Given the description of an element on the screen output the (x, y) to click on. 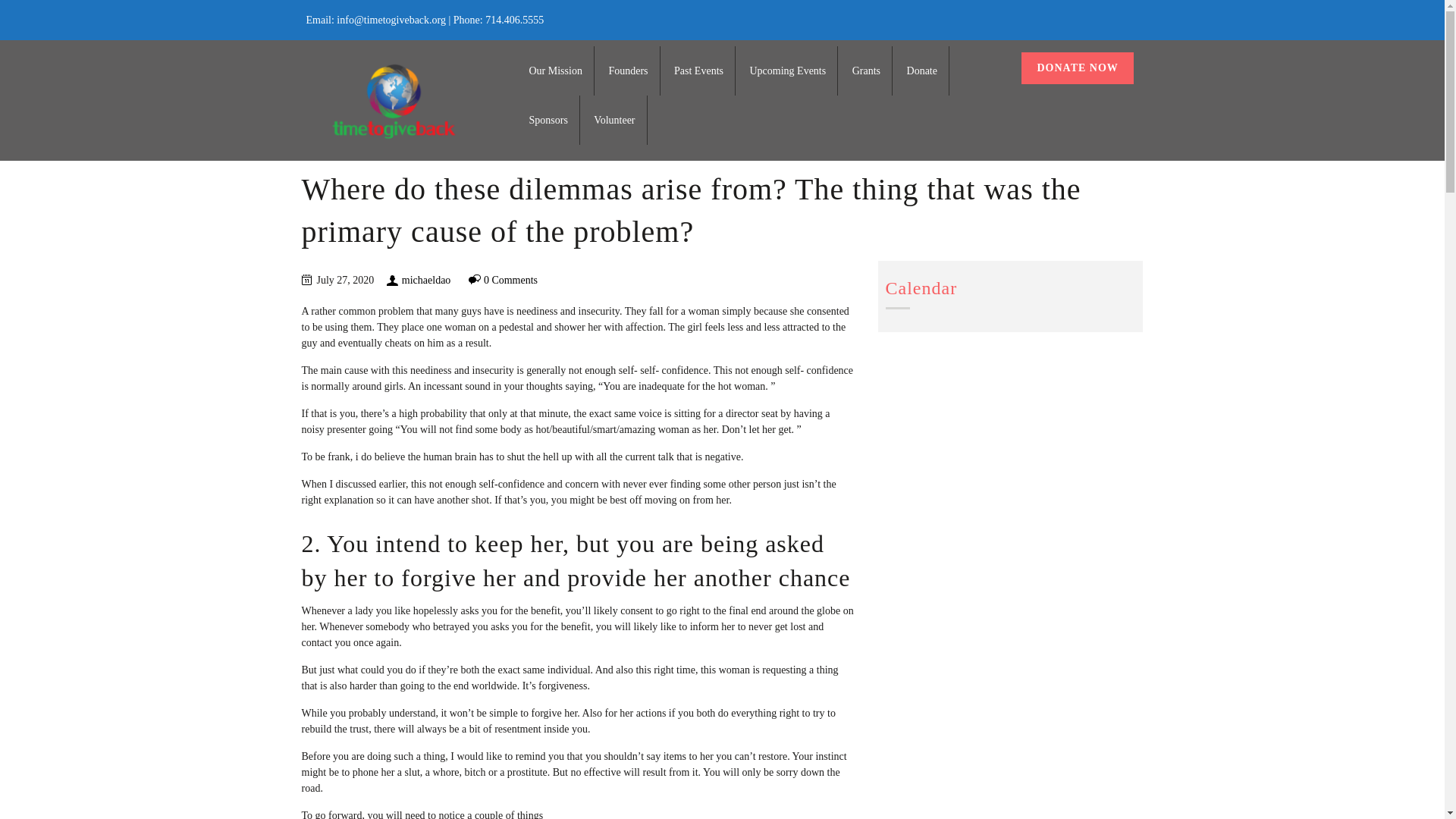
Our Mission (555, 70)
Upcoming Events (787, 70)
DONATE NOW (1077, 68)
Past Events (698, 70)
michaeldao (426, 279)
